Given the description of an element on the screen output the (x, y) to click on. 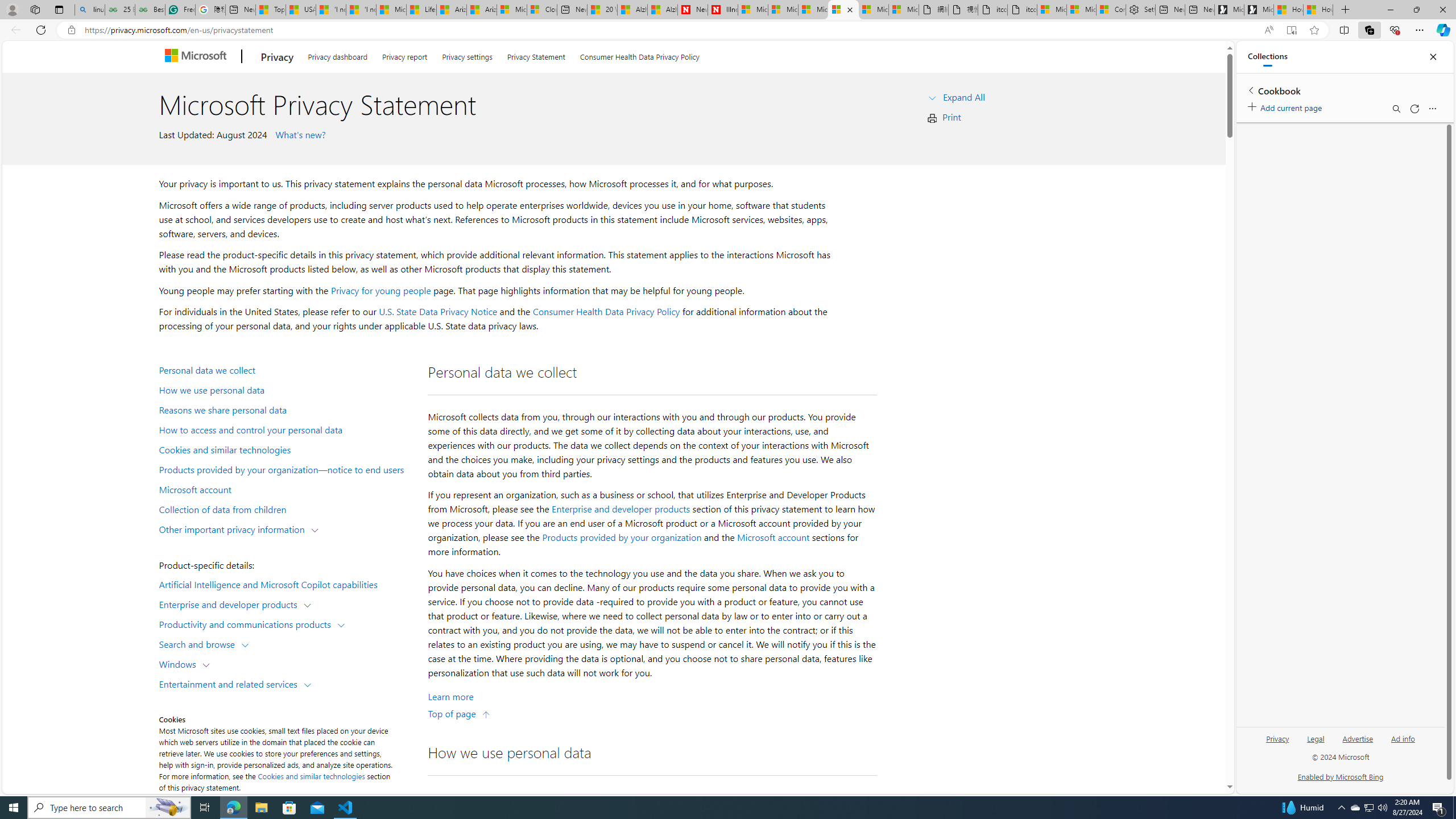
Add current page (1286, 105)
Privacy Statement (535, 54)
Privacy report (404, 54)
Privacy settings (466, 54)
Learn More about Personal data we collect (450, 696)
Privacy for young people (380, 290)
